Given the description of an element on the screen output the (x, y) to click on. 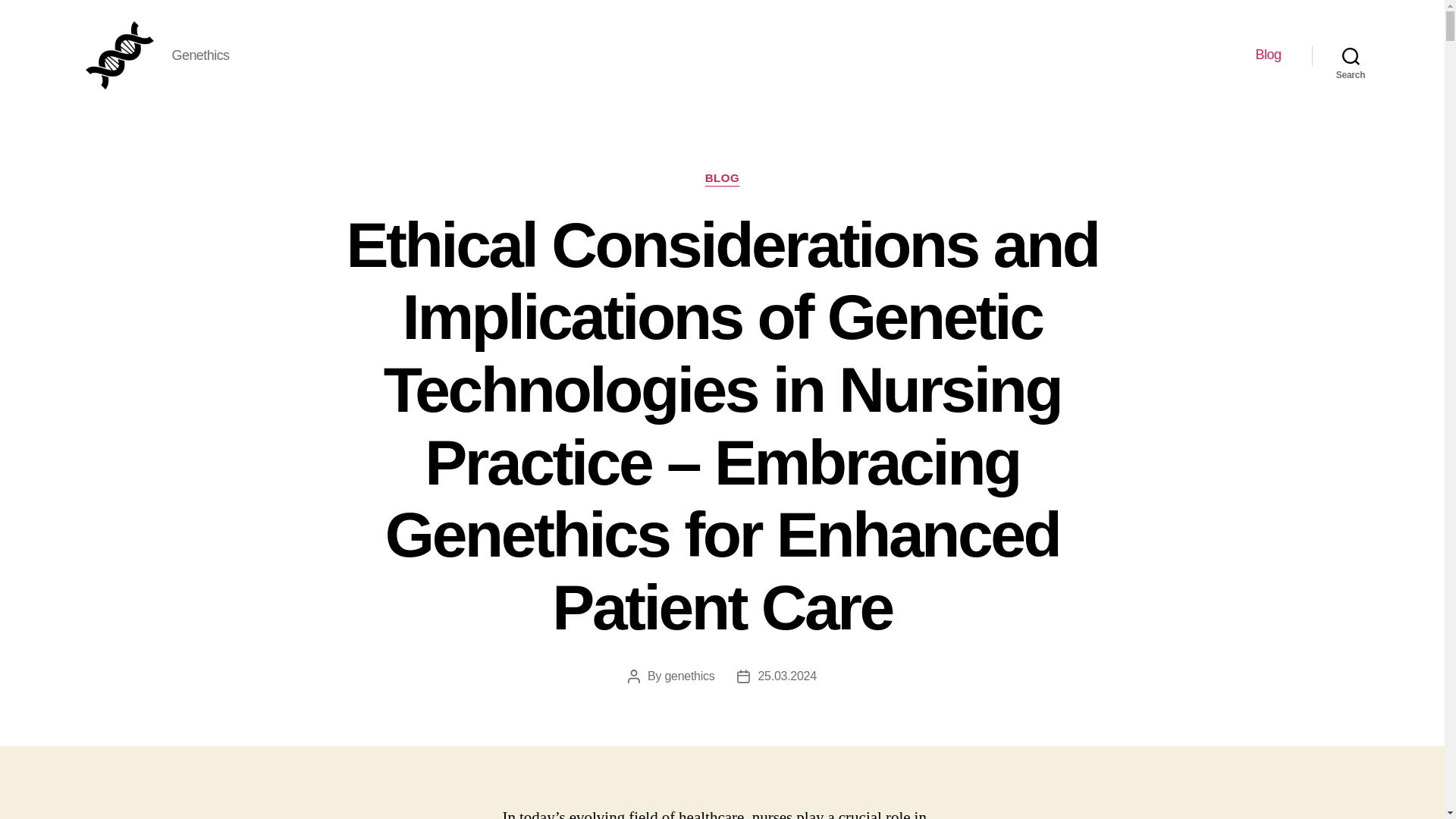
25.03.2024 (786, 675)
genethics (688, 675)
Search (1350, 55)
Blog (1268, 54)
BLOG (721, 178)
